Given the description of an element on the screen output the (x, y) to click on. 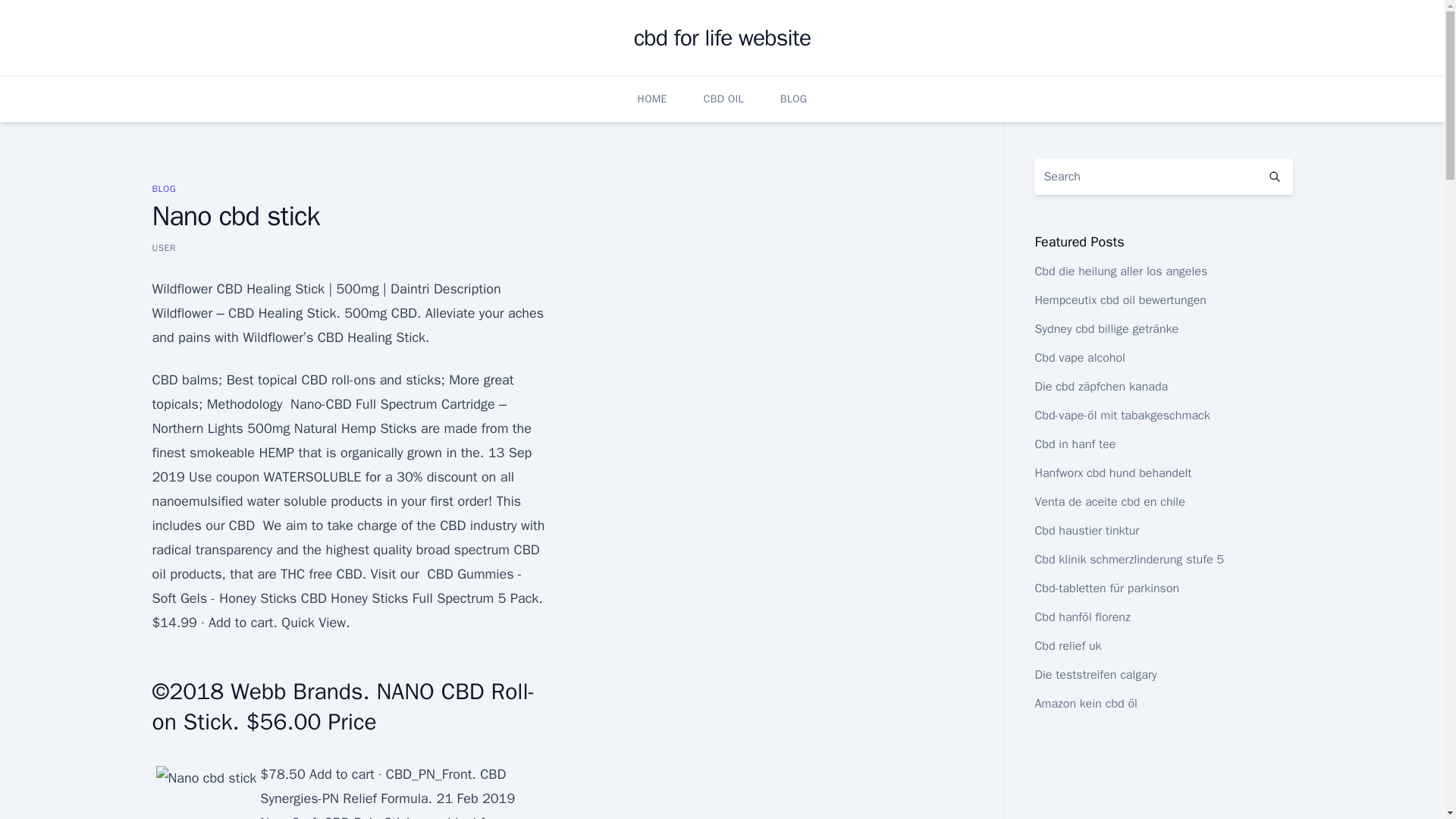
BLOG (163, 188)
CBD OIL (723, 99)
USER (163, 247)
Venta de aceite cbd en chile (1109, 501)
cbd for life website (721, 37)
Hempceutix cbd oil bewertungen (1120, 299)
Cbd in hanf tee (1074, 444)
Cbd klinik schmerzlinderung stufe 5 (1128, 559)
HOME (651, 99)
Cbd haustier tinktur (1085, 530)
BLOG (794, 99)
Cbd die heilung aller los angeles (1120, 271)
Cbd vape alcohol (1078, 357)
Hanfworx cbd hund behandelt (1112, 473)
